Given the description of an element on the screen output the (x, y) to click on. 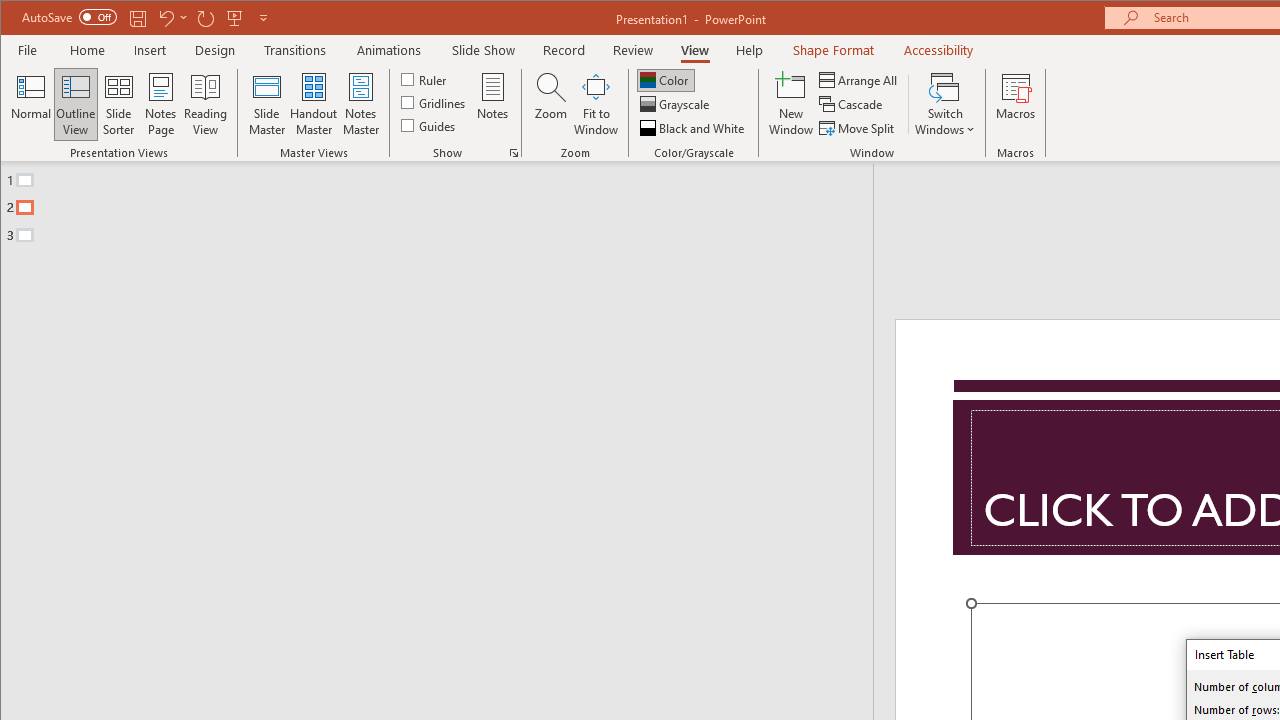
Grayscale (676, 103)
Ruler (425, 78)
Notes Page (160, 104)
Notes Master (360, 104)
Macros (1016, 104)
Zoom... (550, 104)
